Given the description of an element on the screen output the (x, y) to click on. 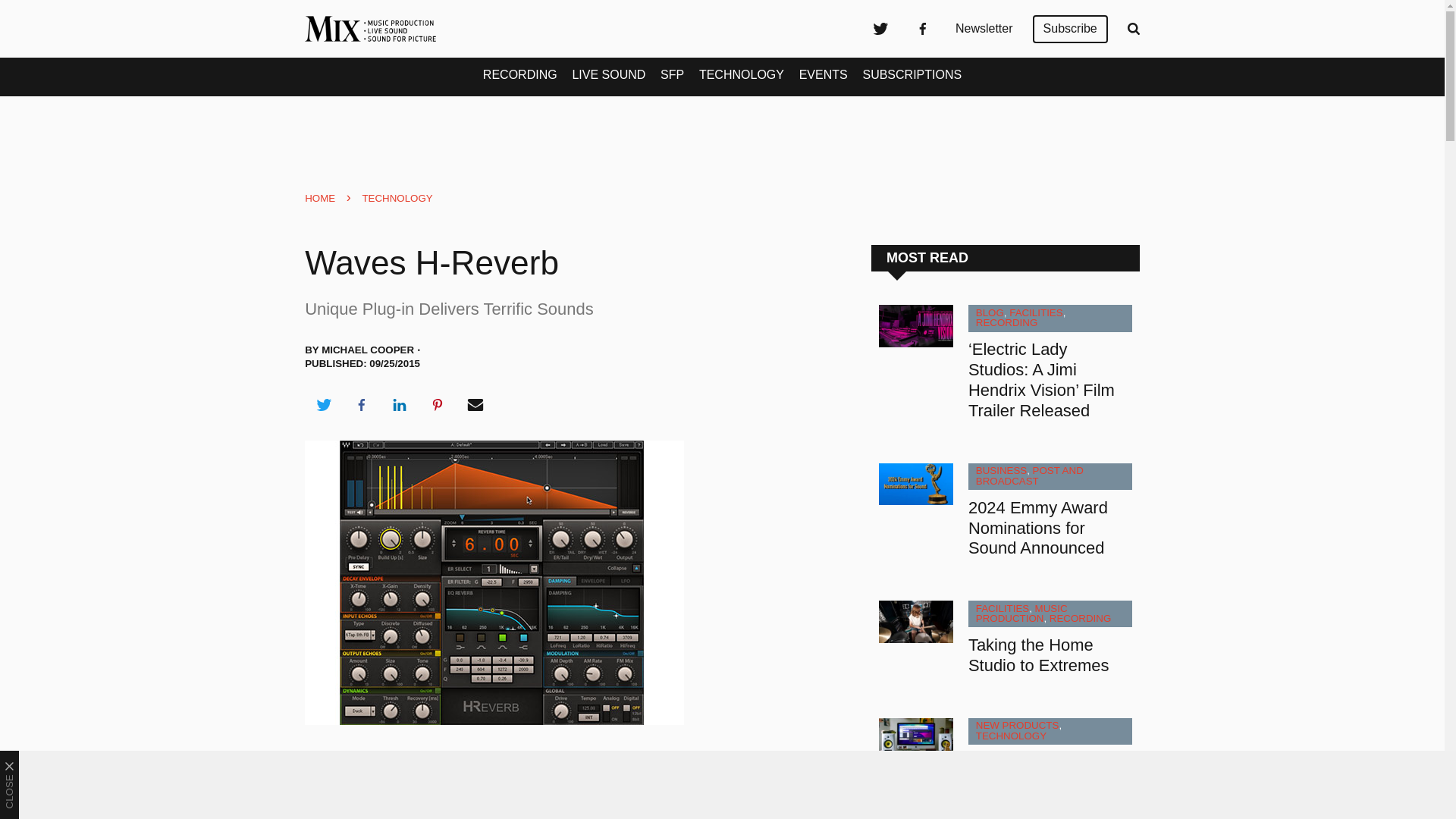
Share on Twitter (323, 404)
Share on Facebook (361, 404)
Share on LinkedIn (399, 404)
Share via Email (476, 404)
Share on Pinterest (438, 404)
